Given the description of an element on the screen output the (x, y) to click on. 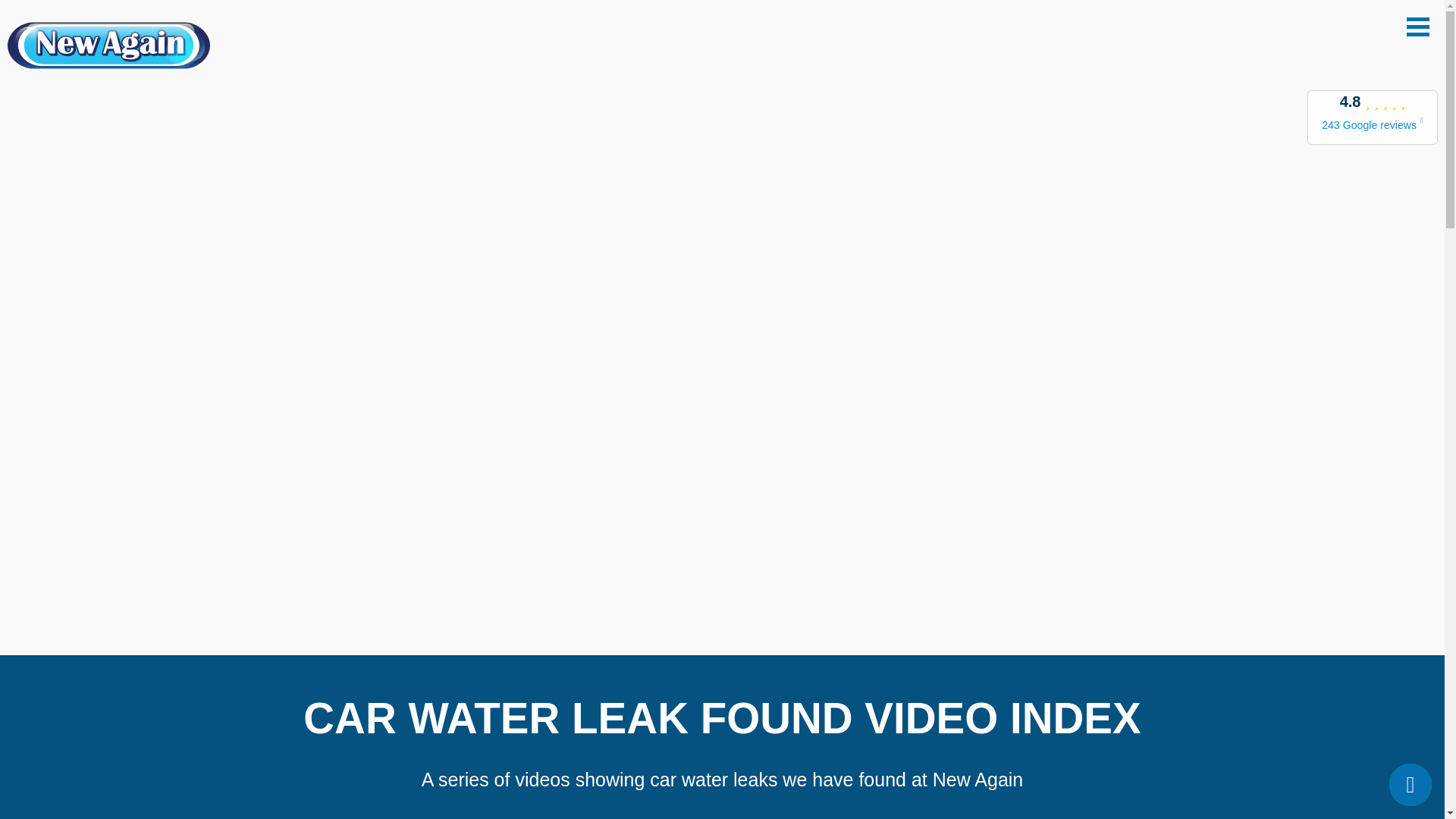
243 Google reviews (1372, 124)
Phone (1410, 784)
Menu (1417, 26)
